Given the description of an element on the screen output the (x, y) to click on. 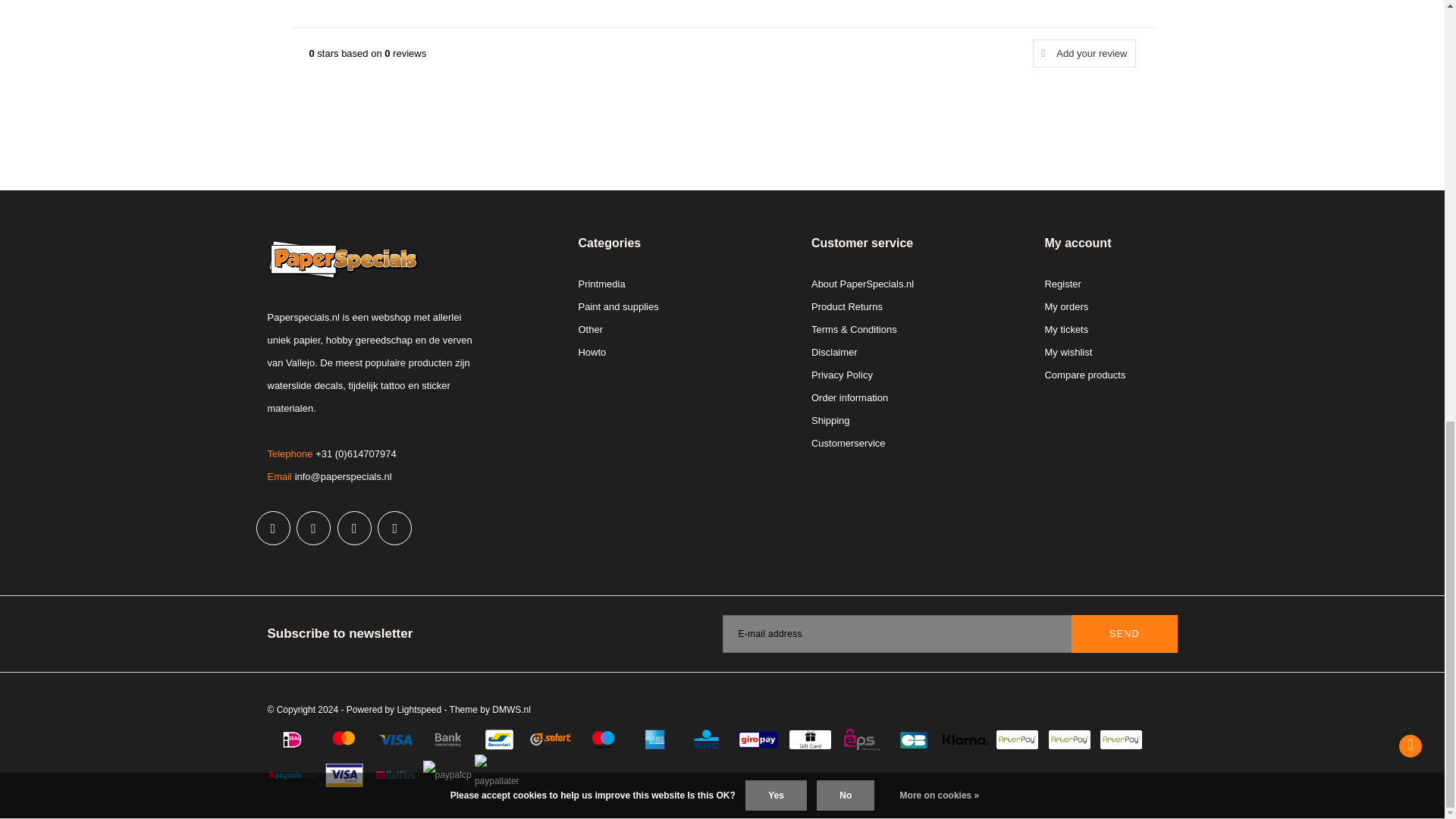
My orders (1065, 306)
Lightspeed (418, 709)
Register (1061, 283)
Subscribe (1124, 633)
My wishlist (1067, 351)
My tickets (1065, 328)
